Given the description of an element on the screen output the (x, y) to click on. 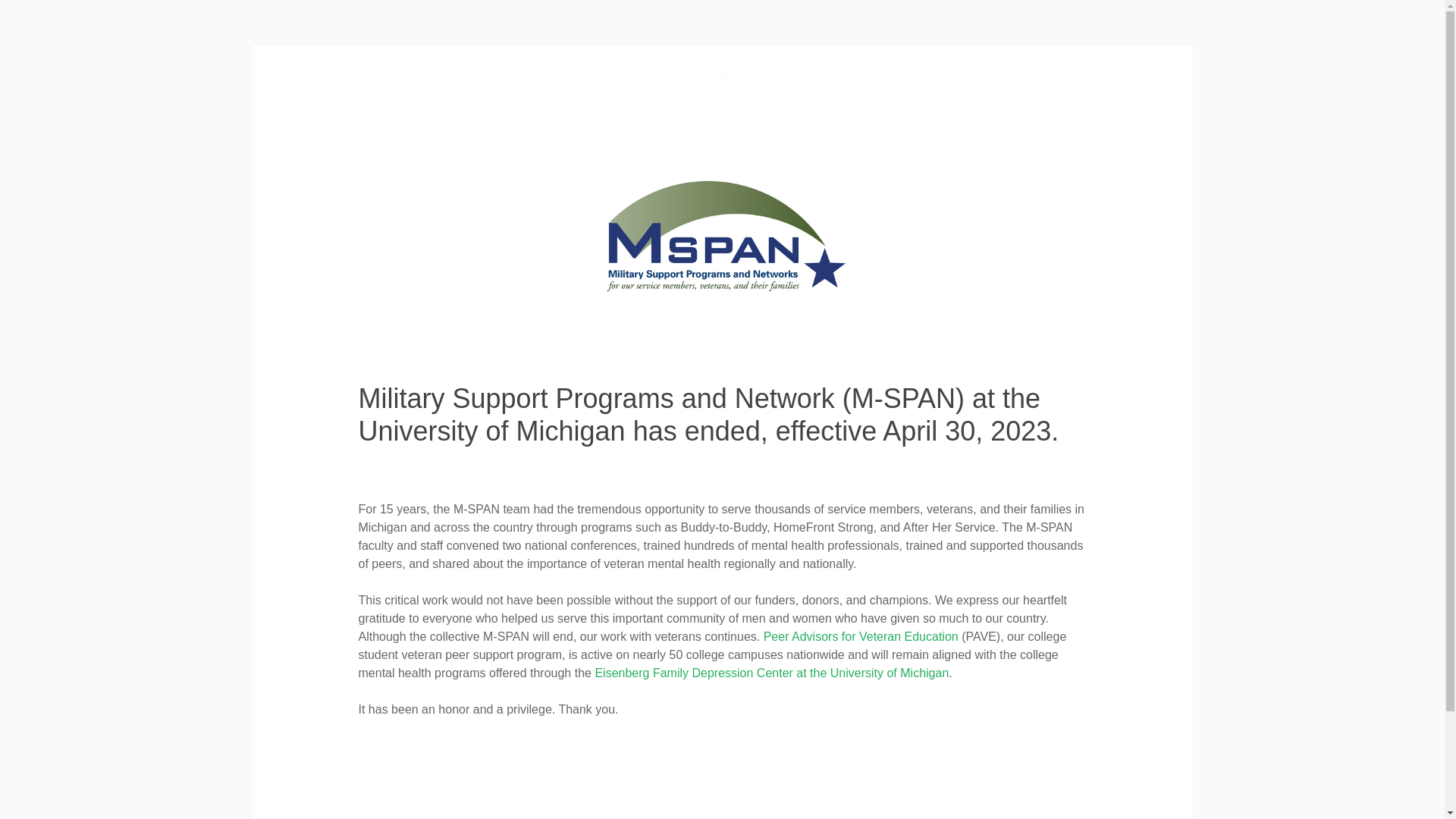
Peer Advisors for Veteran Education (860, 635)
